Given the description of an element on the screen output the (x, y) to click on. 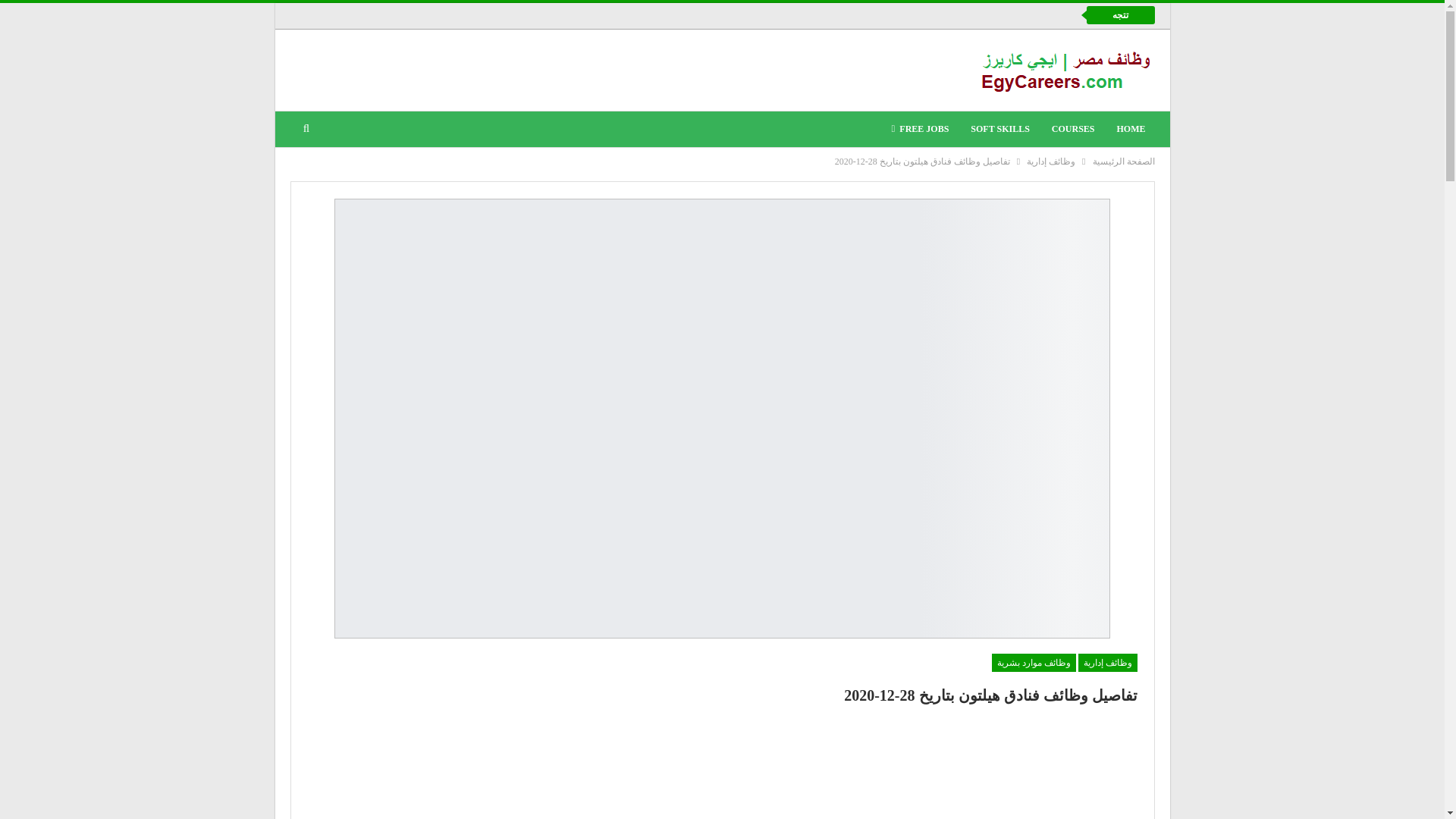
SOFT SKILLS (999, 129)
FREE JOBS (920, 129)
HOME (1130, 129)
COURSES (1072, 129)
